Given the description of an element on the screen output the (x, y) to click on. 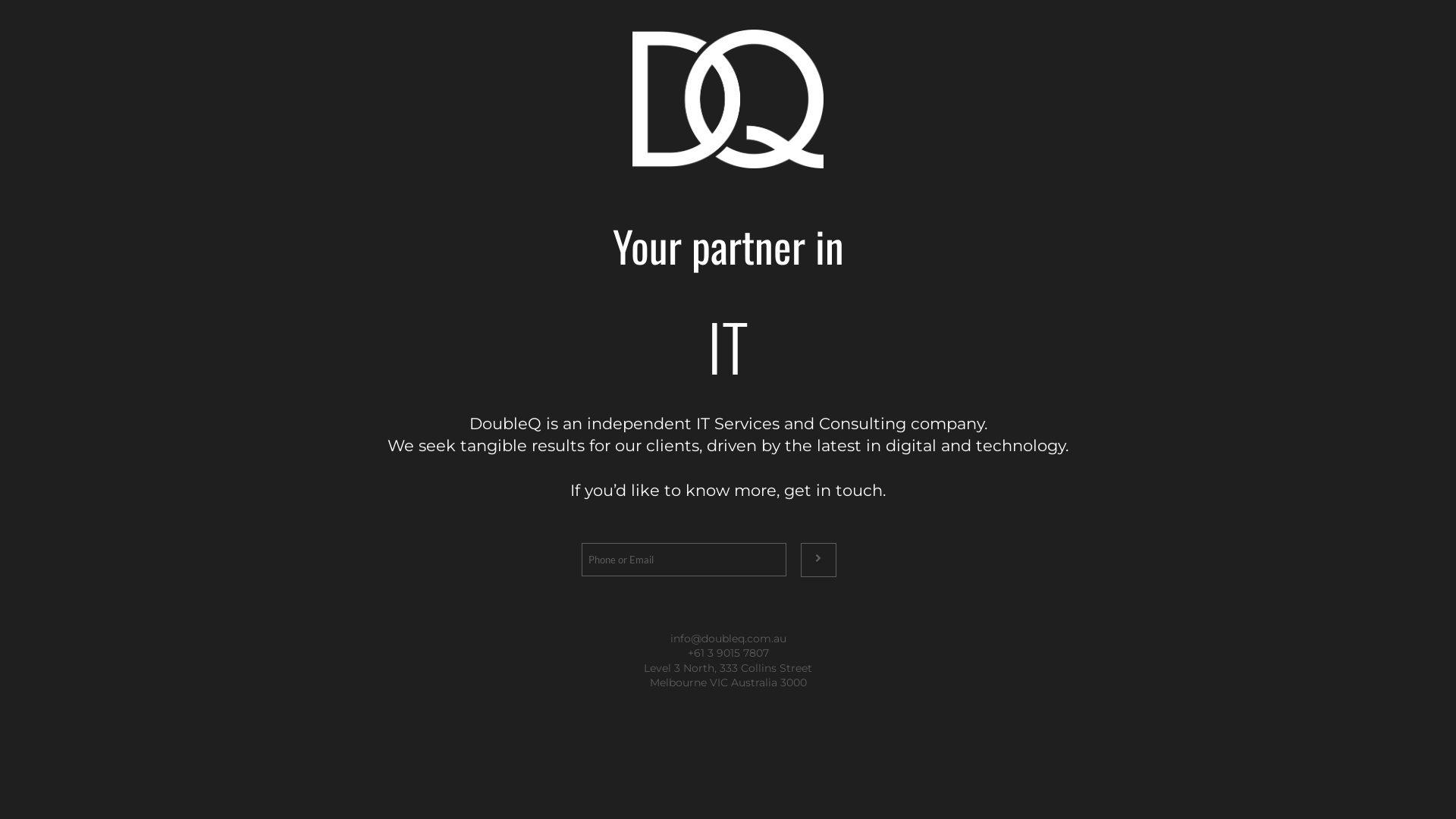
+61 3 9015 7807 Element type: text (727, 652)
info@doubleq.com.au Element type: text (728, 638)
